Given the description of an element on the screen output the (x, y) to click on. 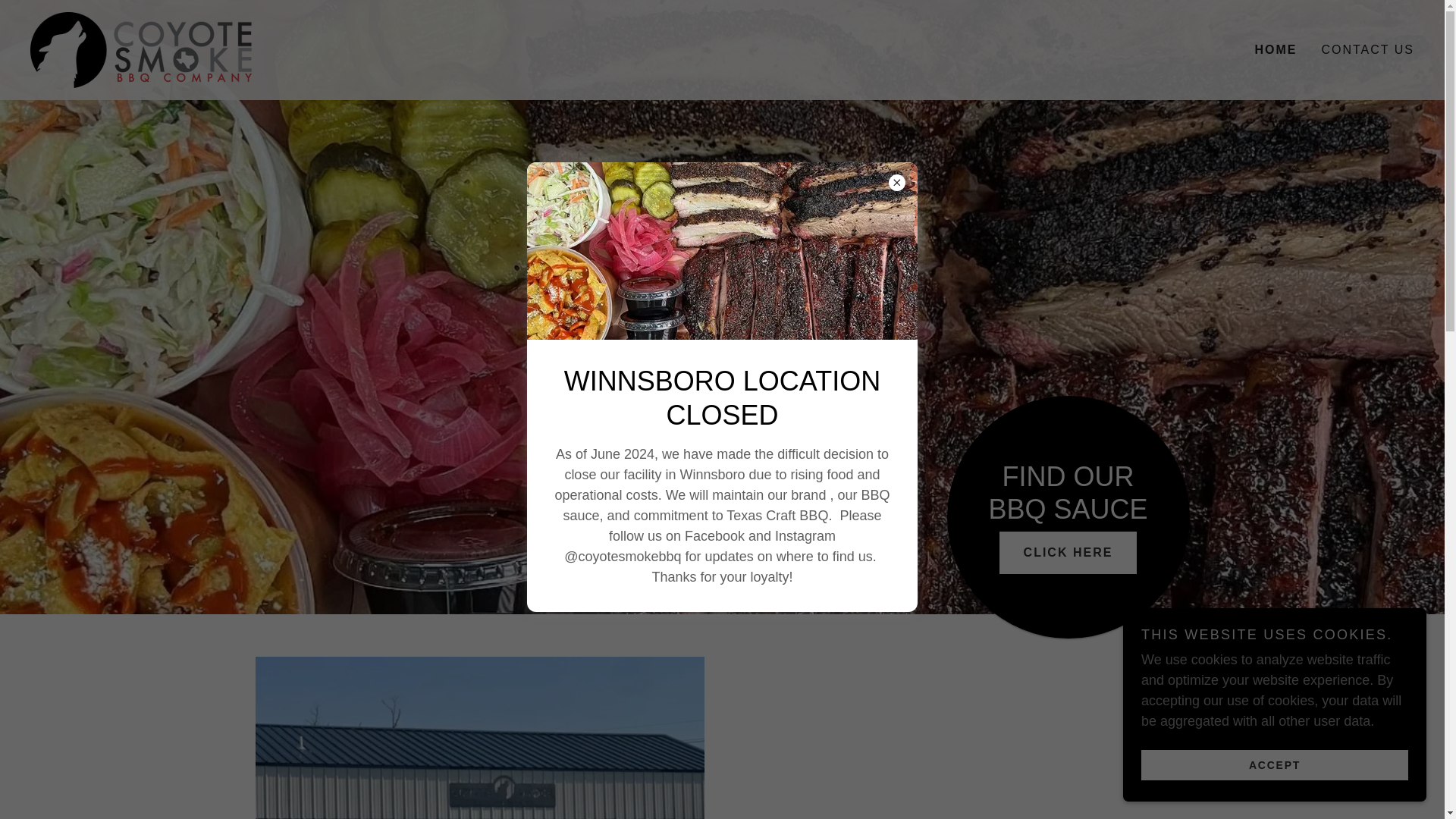
HOME (1275, 49)
CONTACT US (1367, 49)
ACCEPT (1274, 764)
Coyote Smoke BBQ Company (140, 48)
CLICK HERE (1067, 552)
